Given the description of an element on the screen output the (x, y) to click on. 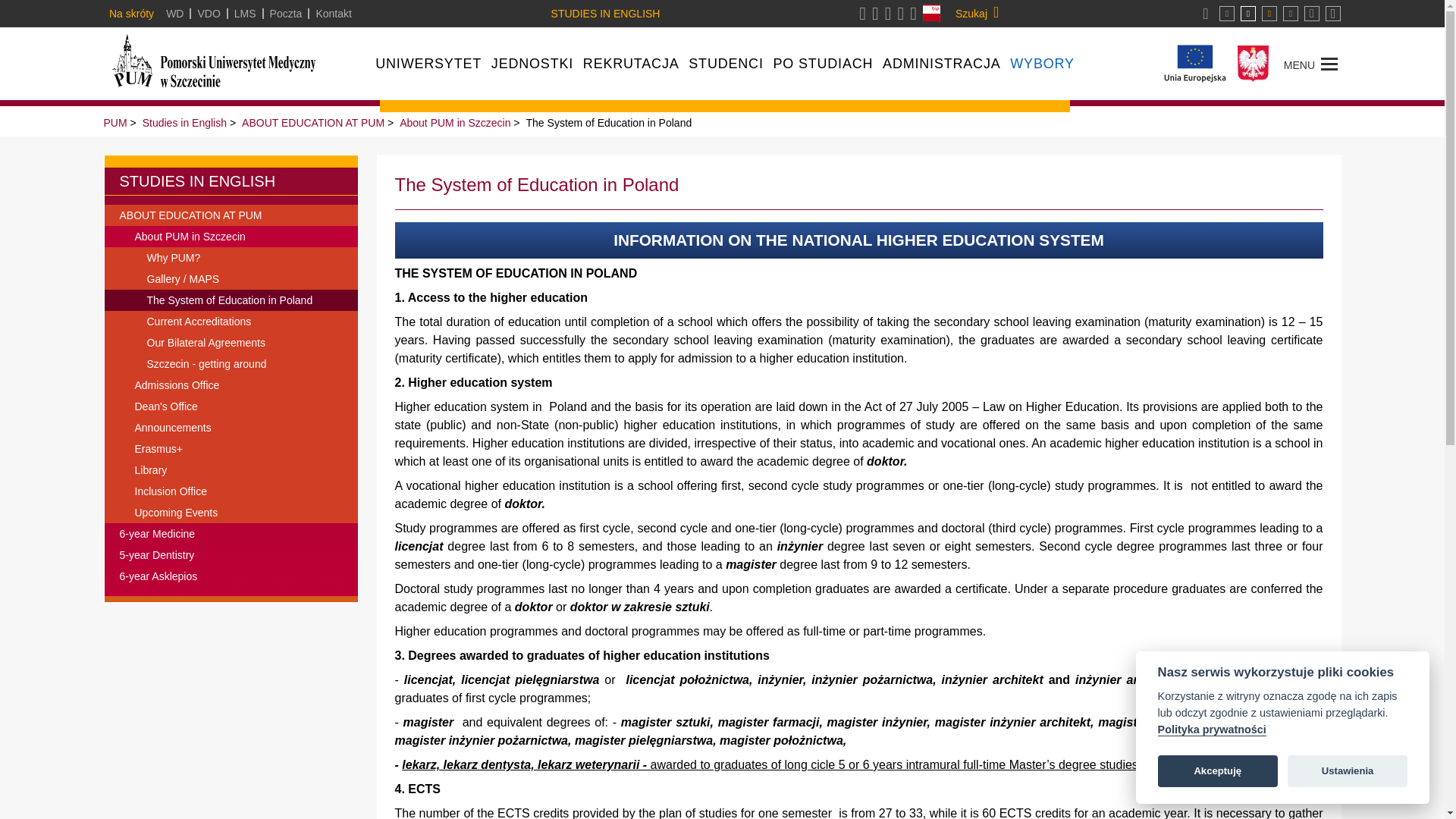
LMS (245, 13)
projekty z dofinansowaniem (1194, 63)
Kontakt (332, 13)
Wirtualny Dziekanat (174, 13)
UNIWERSYTET (428, 63)
Poczta (285, 13)
JEDNOSTKI (532, 63)
Szukaj (976, 13)
STUDIES IN ENGLISH (608, 13)
VDO (207, 13)
REKRUTACJA (631, 63)
WD (174, 13)
logo PUM sygnet (258, 63)
STUDENCI (725, 63)
